Given the description of an element on the screen output the (x, y) to click on. 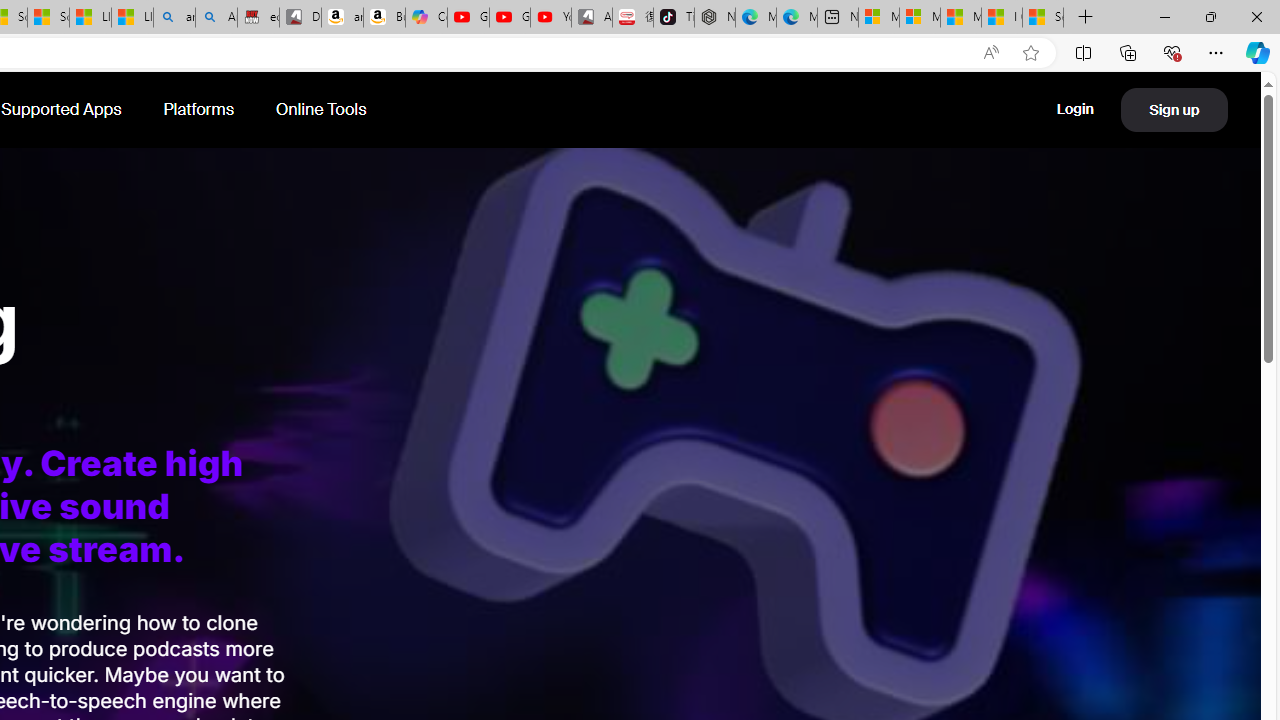
Sign up (1174, 109)
Copilot (425, 17)
TikTok (673, 17)
Login (1075, 108)
amazon.in/dp/B0CX59H5W7/?tag=gsmcom05-21 (342, 17)
Online Tools (321, 109)
